Given the description of an element on the screen output the (x, y) to click on. 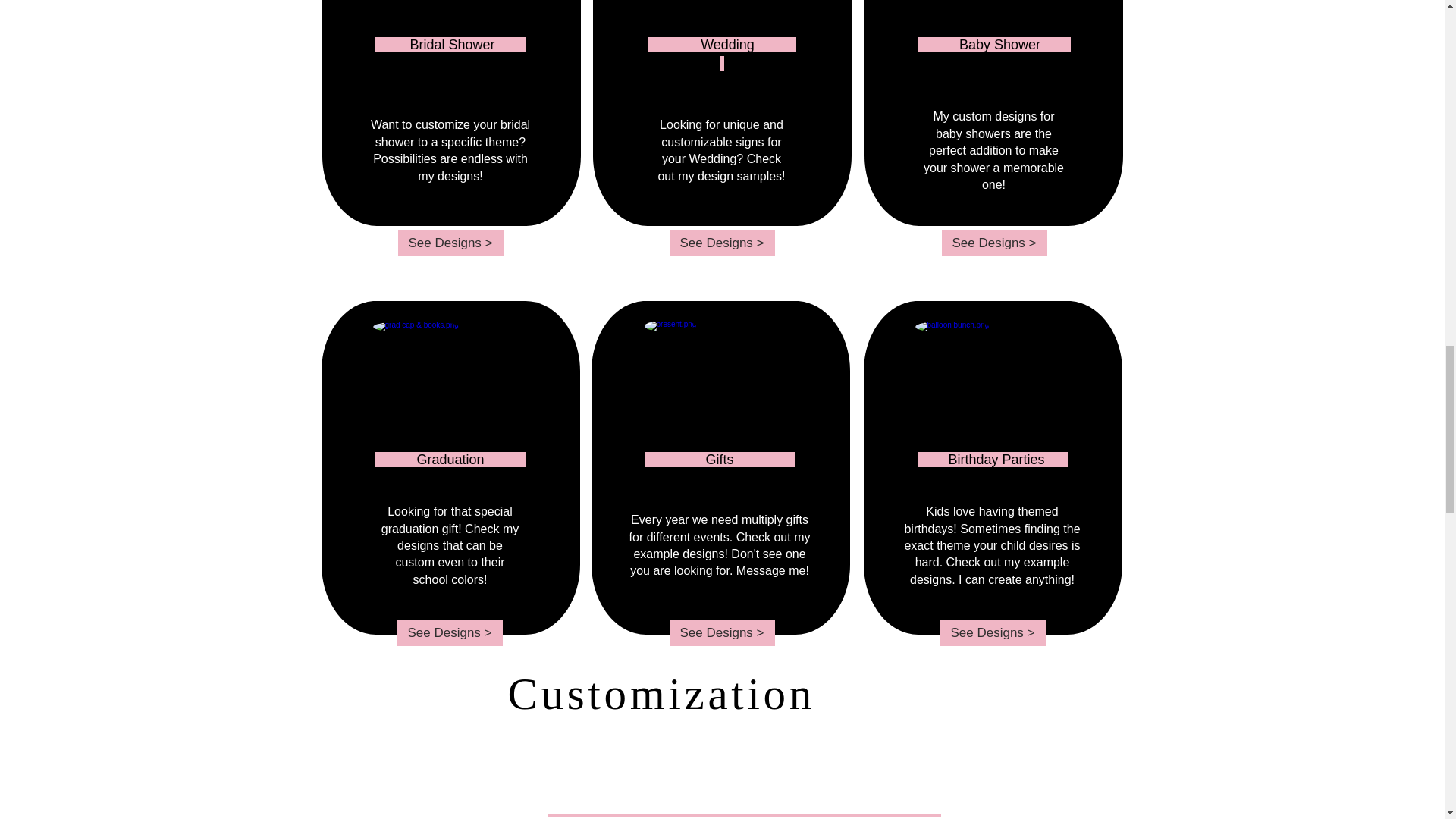
89AD353A-44FB-4C0B-B789-51537605CC33.jpg (450, 32)
BD8FFFCC-E133-4027-A1EC-B4BCA8200D15.jpg (720, 32)
C0AE81C0-F49B-4041-A14F-9B990CEA487C.jpe (993, 32)
F06D8B8C-BA44-4079-8E2F-C0BAE23771FA.jpg (450, 398)
